Given the description of an element on the screen output the (x, y) to click on. 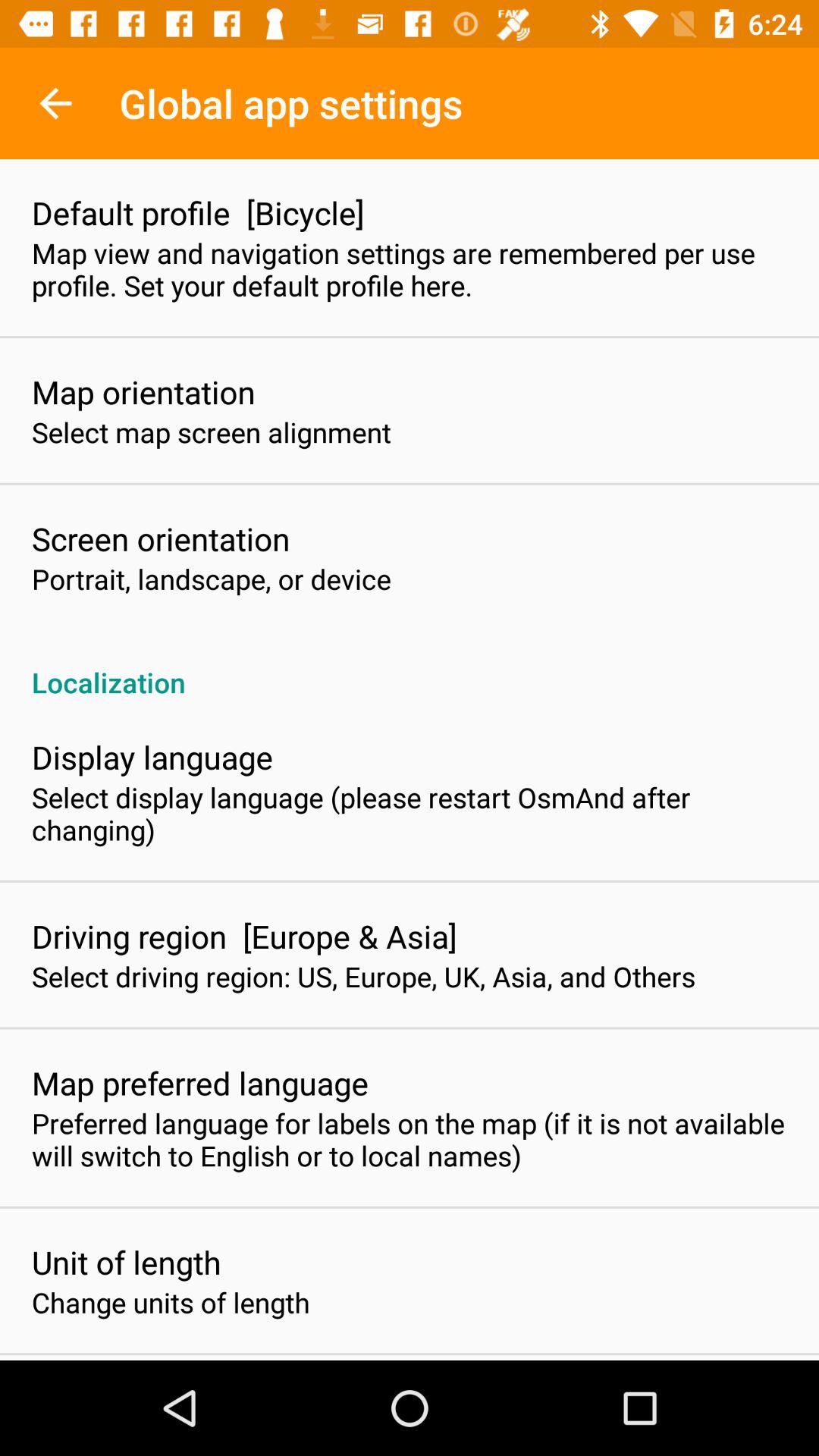
launch the item above localization (211, 578)
